Given the description of an element on the screen output the (x, y) to click on. 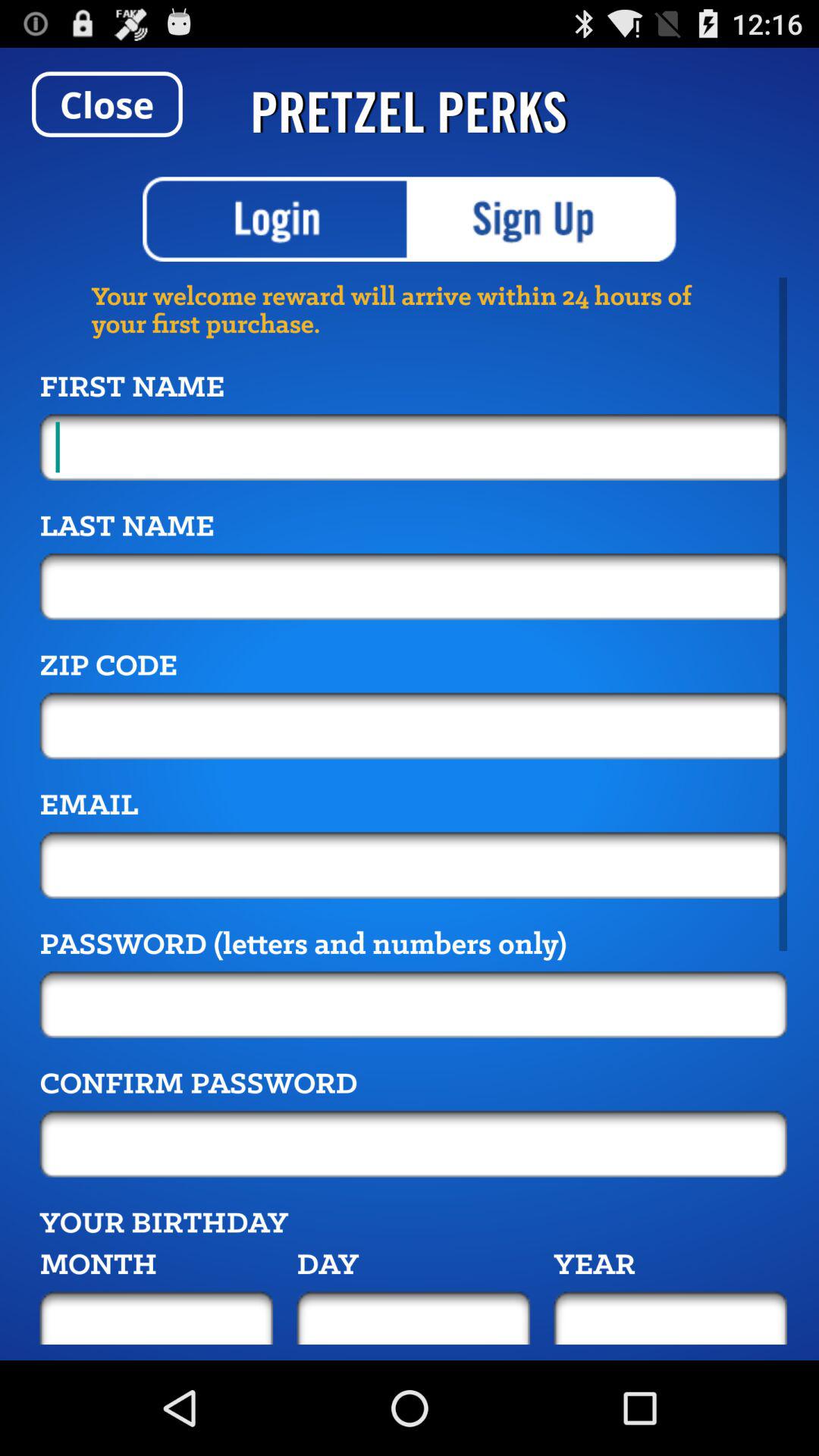
login button (276, 218)
